Given the description of an element on the screen output the (x, y) to click on. 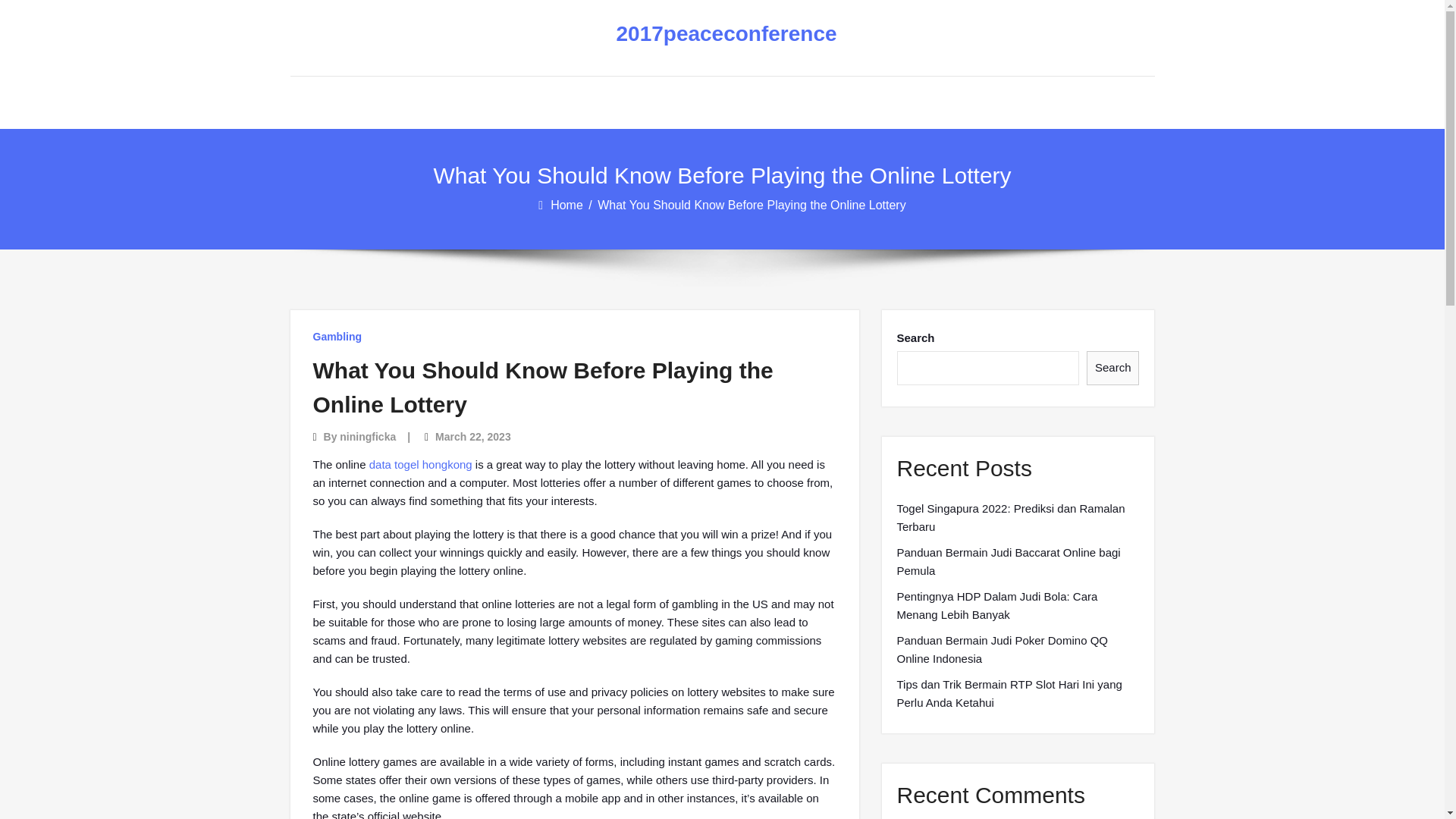
niningficka (367, 436)
March 22, 2023 (473, 436)
Home (567, 205)
data togel hongkong (420, 463)
2017peaceconference (710, 34)
Search (1113, 367)
Panduan Bermain Judi Baccarat Online bagi Pemula (1017, 561)
Gambling (337, 336)
Togel Singapura 2022: Prediksi dan Ramalan Terbaru (1017, 517)
Pentingnya HDP Dalam Judi Bola: Cara Menang Lebih Banyak (1017, 606)
Panduan Bermain Judi Poker Domino QQ Online Indonesia (1017, 649)
